Given the description of an element on the screen output the (x, y) to click on. 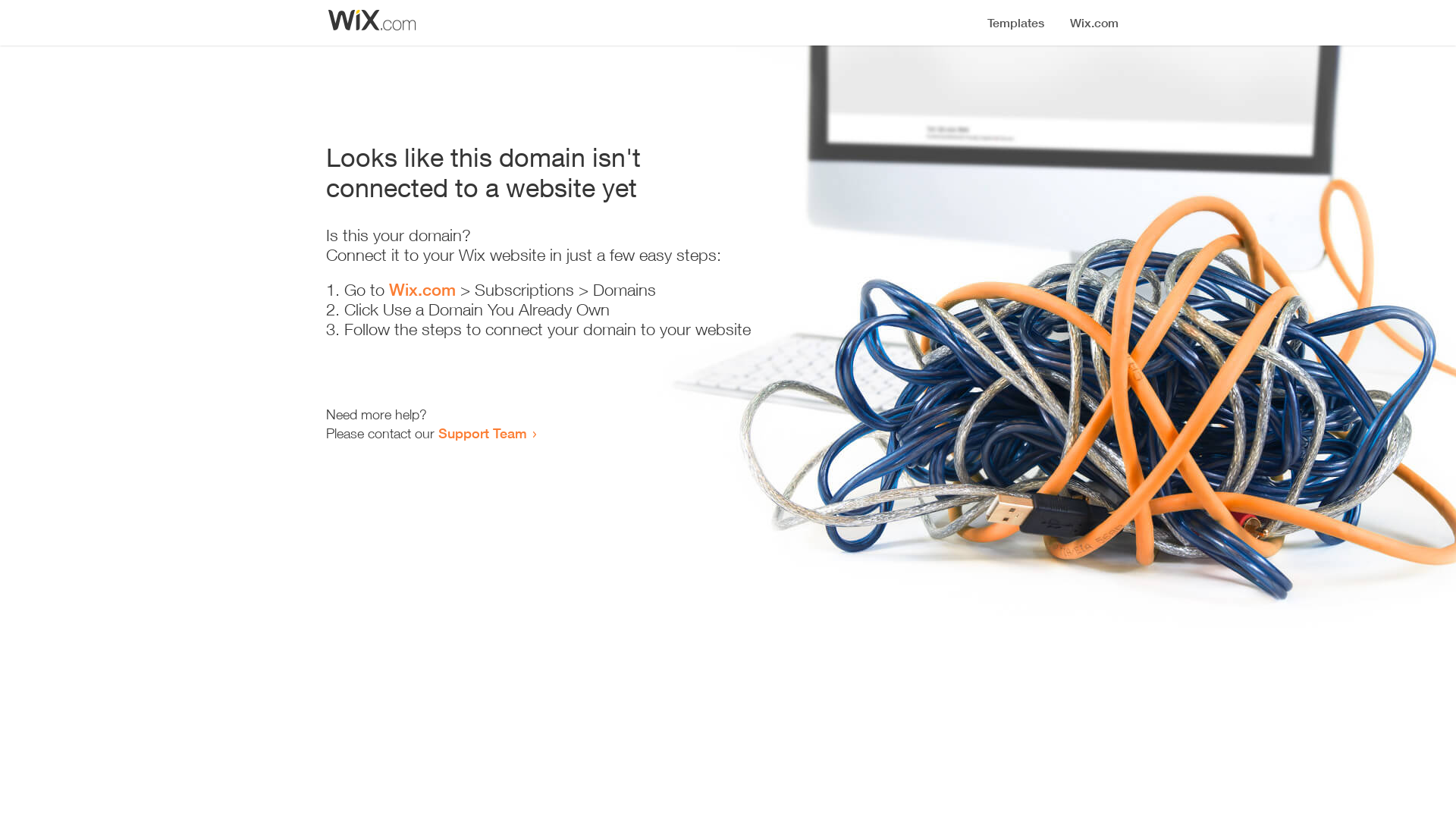
Support Team Element type: text (482, 432)
Wix.com Element type: text (422, 289)
